Given the description of an element on the screen output the (x, y) to click on. 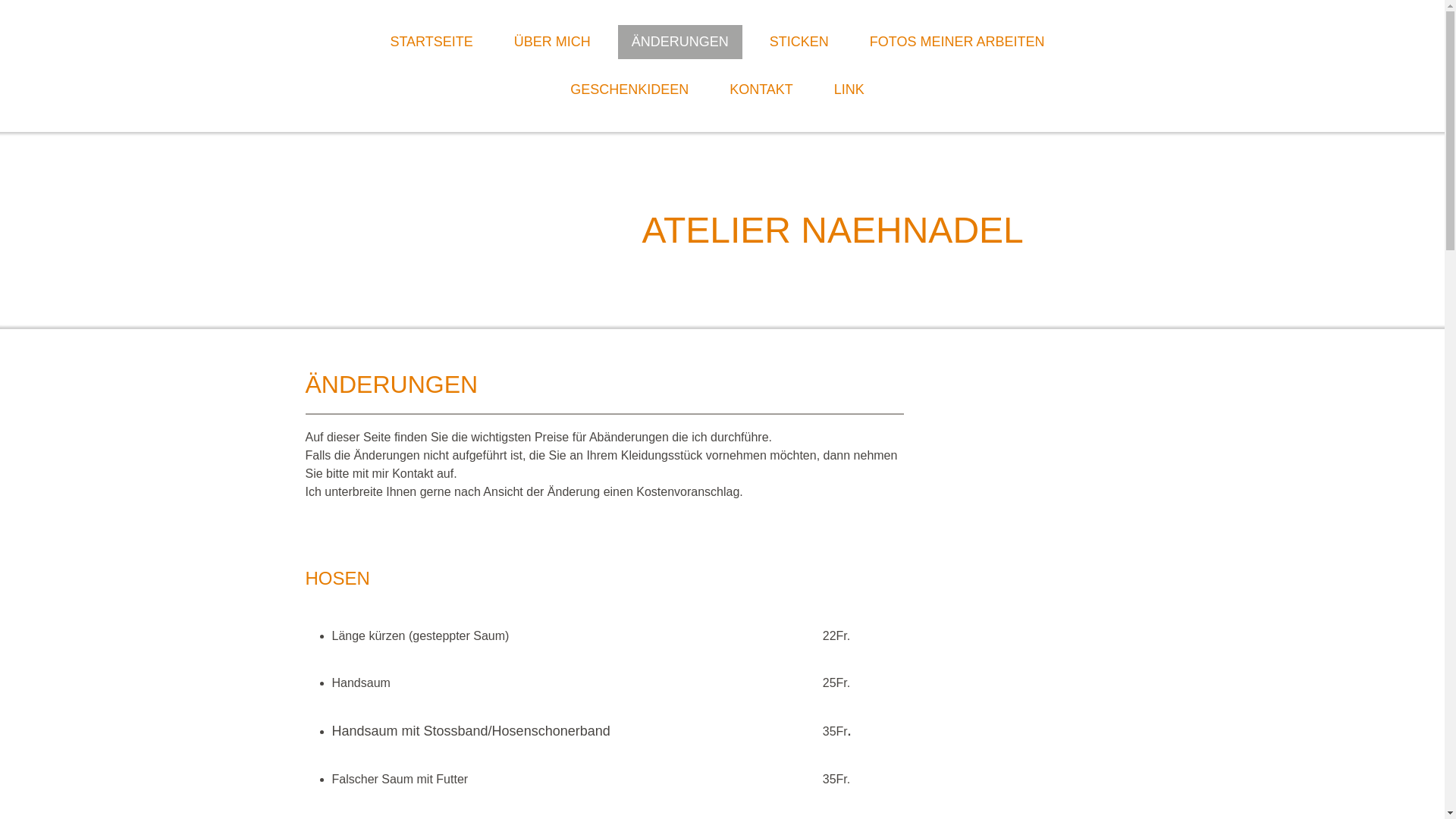
FOTOS MEINER ARBEITEN Element type: text (957, 42)
KONTAKT Element type: text (760, 89)
ATELIER NAEHNADEL Element type: text (890, 230)
GESCHENKIDEEN Element type: text (629, 89)
LINK Element type: text (849, 89)
STARTSEITE Element type: text (431, 42)
STICKEN Element type: text (799, 42)
